Given the description of an element on the screen output the (x, y) to click on. 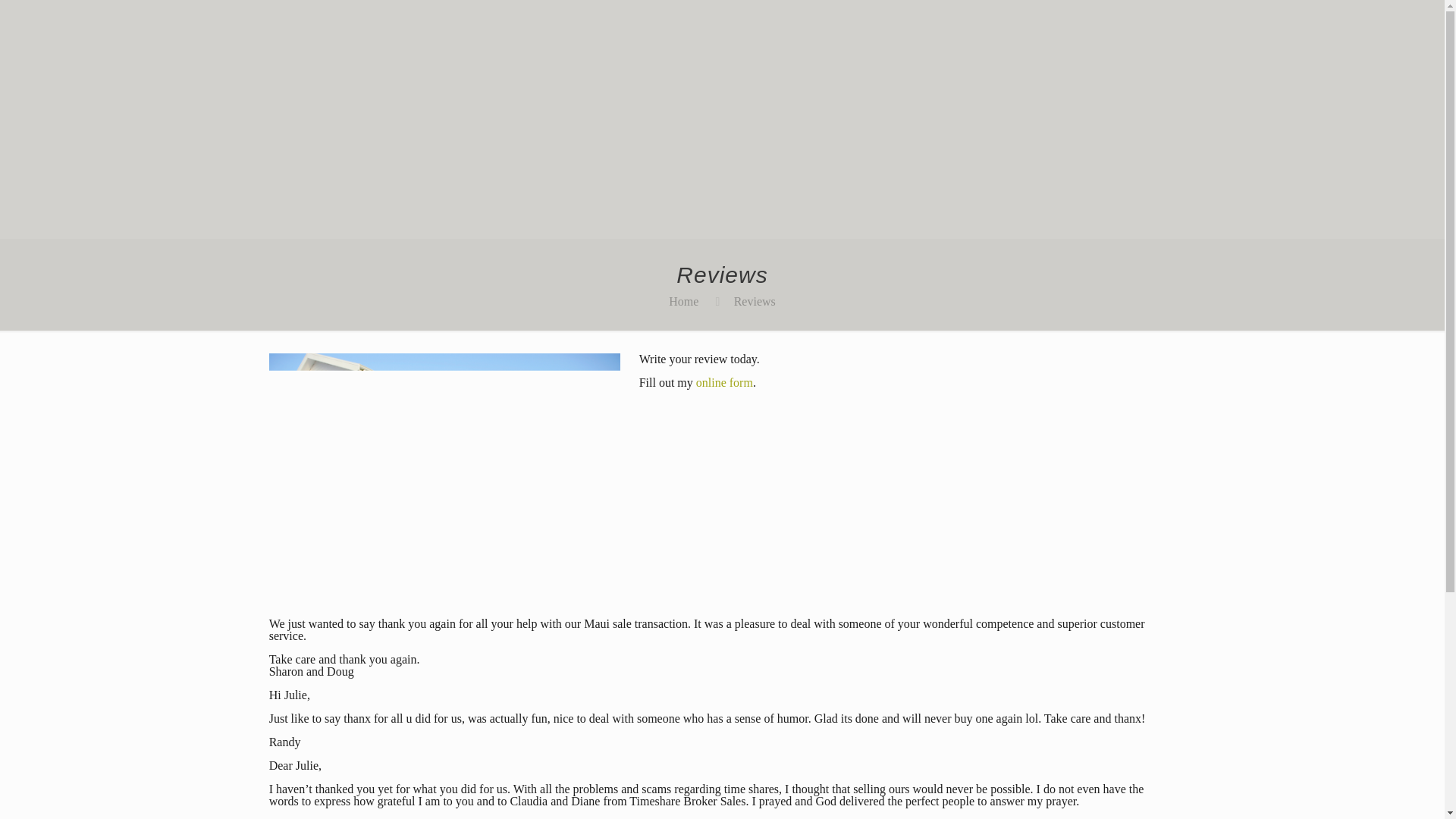
Reviews (754, 300)
online form (723, 382)
Generational family sitting on porch (445, 470)
Home (683, 300)
